Given the description of an element on the screen output the (x, y) to click on. 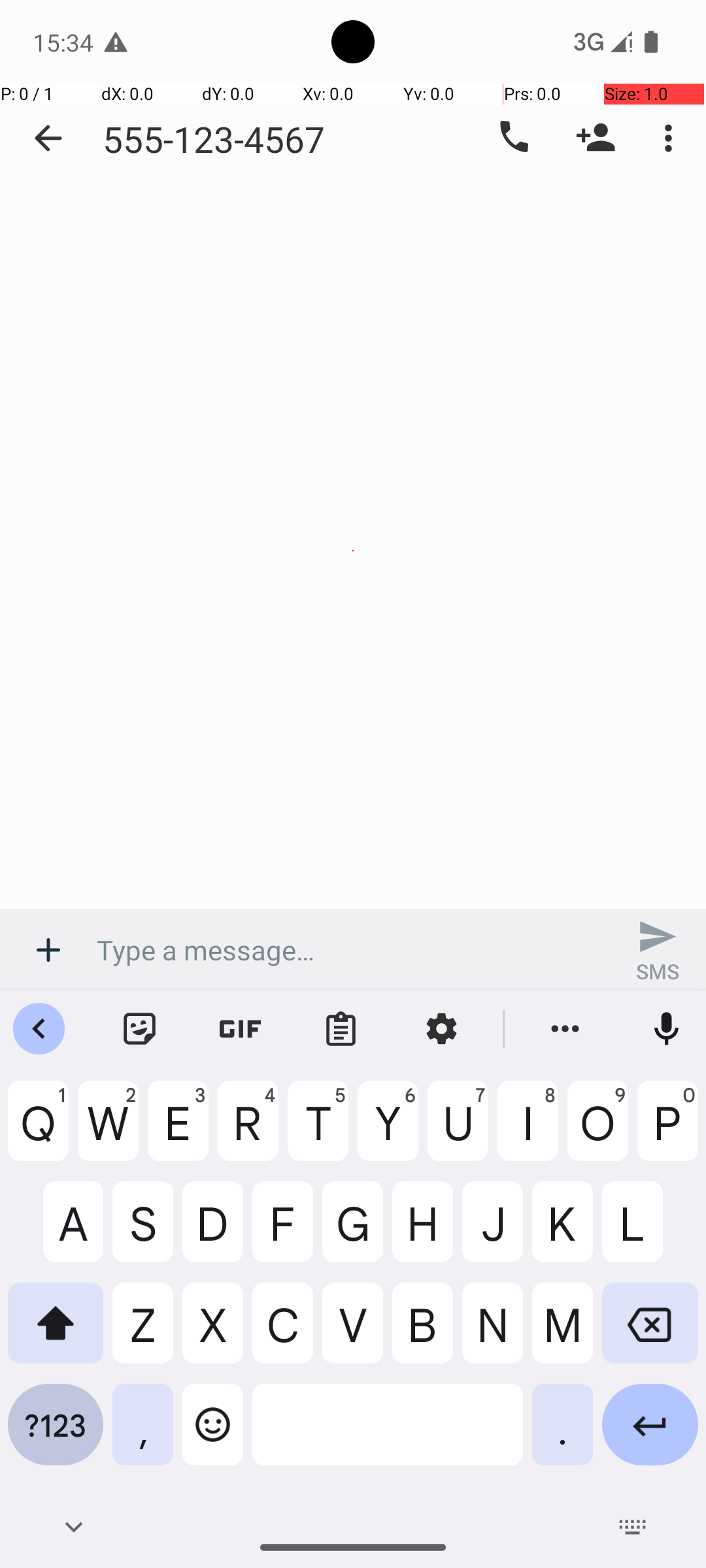
555-123-4567 Element type: android.widget.TextView (213, 138)
Dial number Element type: android.widget.Button (512, 137)
Add Person Element type: android.widget.Button (595, 137)
Attachment Element type: android.widget.ImageView (48, 949)
Type a message… Element type: android.widget.EditText (352, 949)
SMS Element type: android.widget.Button (657, 949)
